Given the description of an element on the screen output the (x, y) to click on. 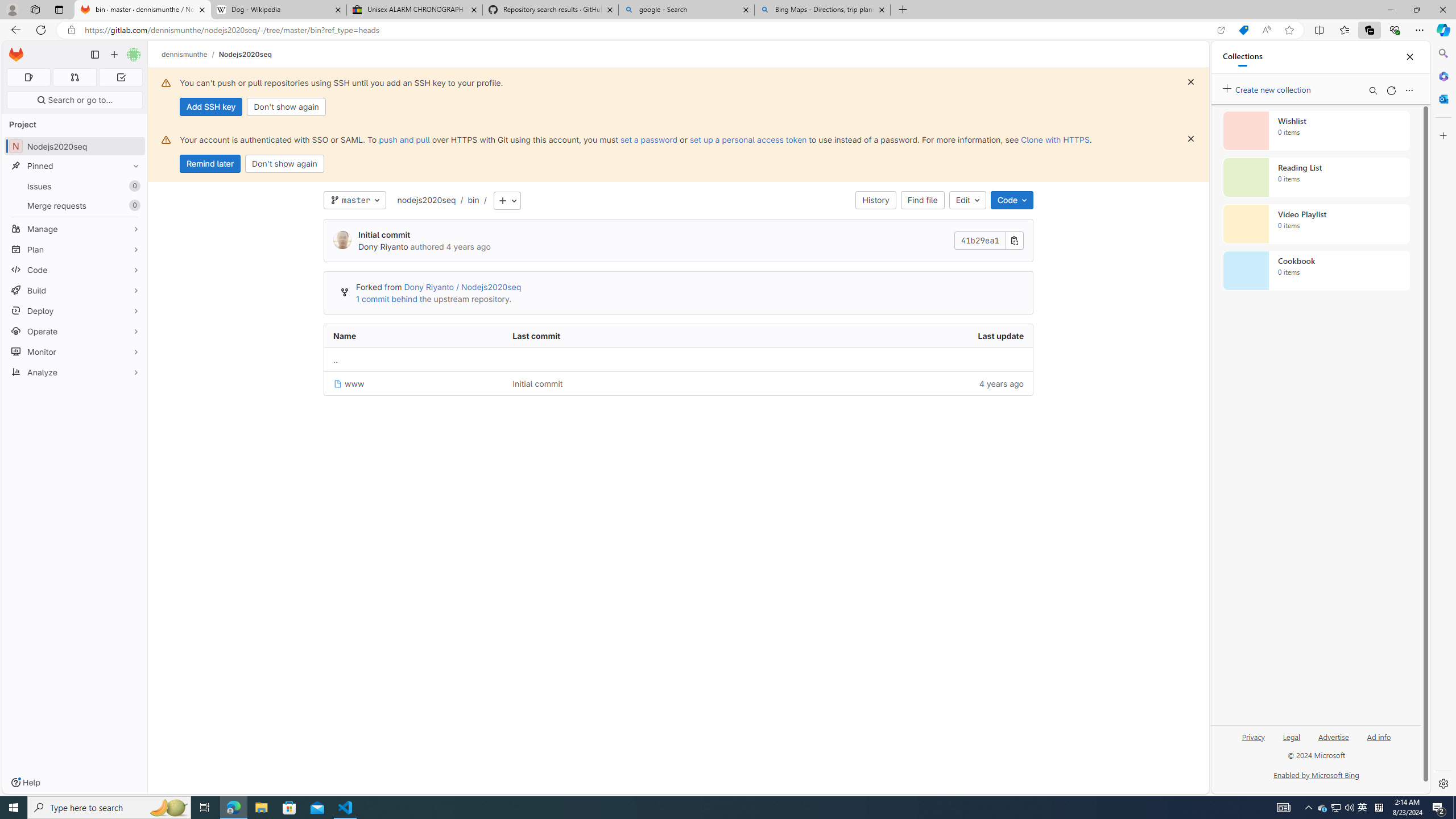
Class: s16 gl-alert-icon gl-alert-icon-no-title (165, 139)
Remind later (210, 163)
Edit (967, 199)
NNodejs2020seq (74, 145)
Dony Riyanto's avatar (341, 240)
Dony Riyanto's avatar (341, 239)
